Given the description of an element on the screen output the (x, y) to click on. 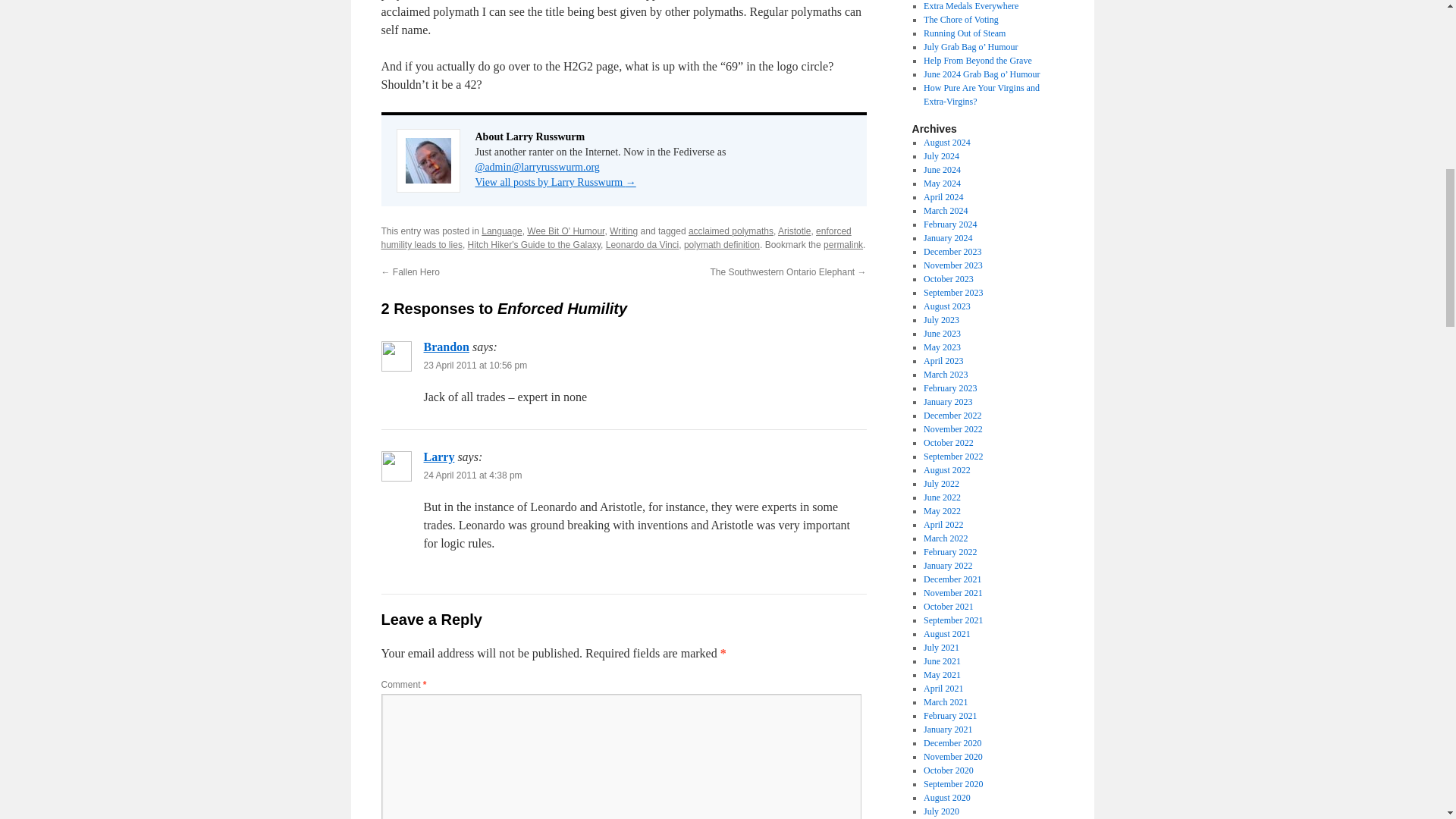
permalink (843, 244)
Permalink to Enforced Humility (843, 244)
Wee Bit O' Humour (565, 231)
Writing (623, 231)
Hitch Hiker's Guide to the Galaxy (533, 244)
polymath definition (722, 244)
enforced humility leads to lies (615, 238)
Aristotle (793, 231)
Language (501, 231)
acclaimed polymaths (730, 231)
